Given the description of an element on the screen output the (x, y) to click on. 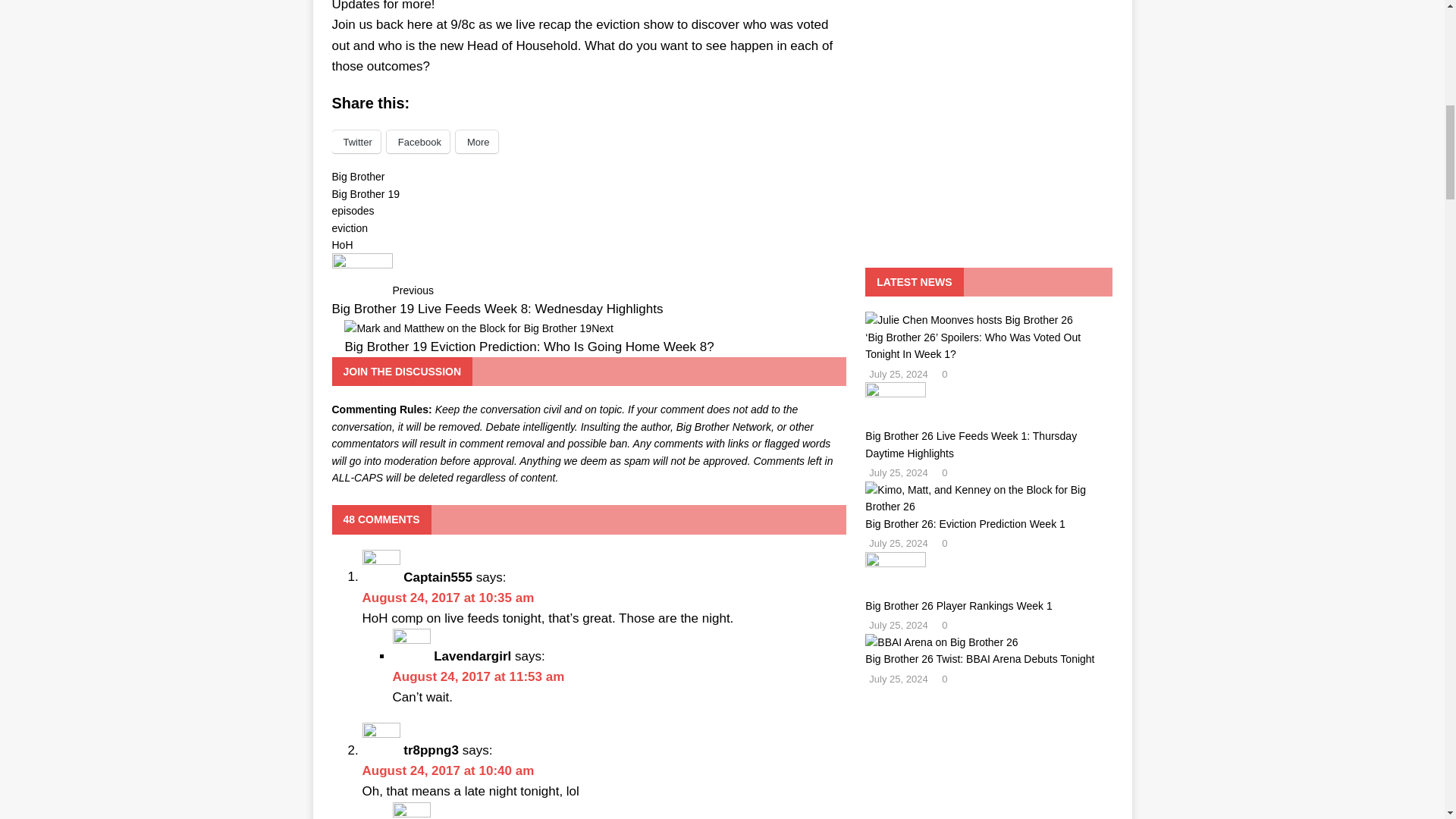
Click to share on Facebook (418, 141)
Click to share on Twitter (355, 141)
